Given the description of an element on the screen output the (x, y) to click on. 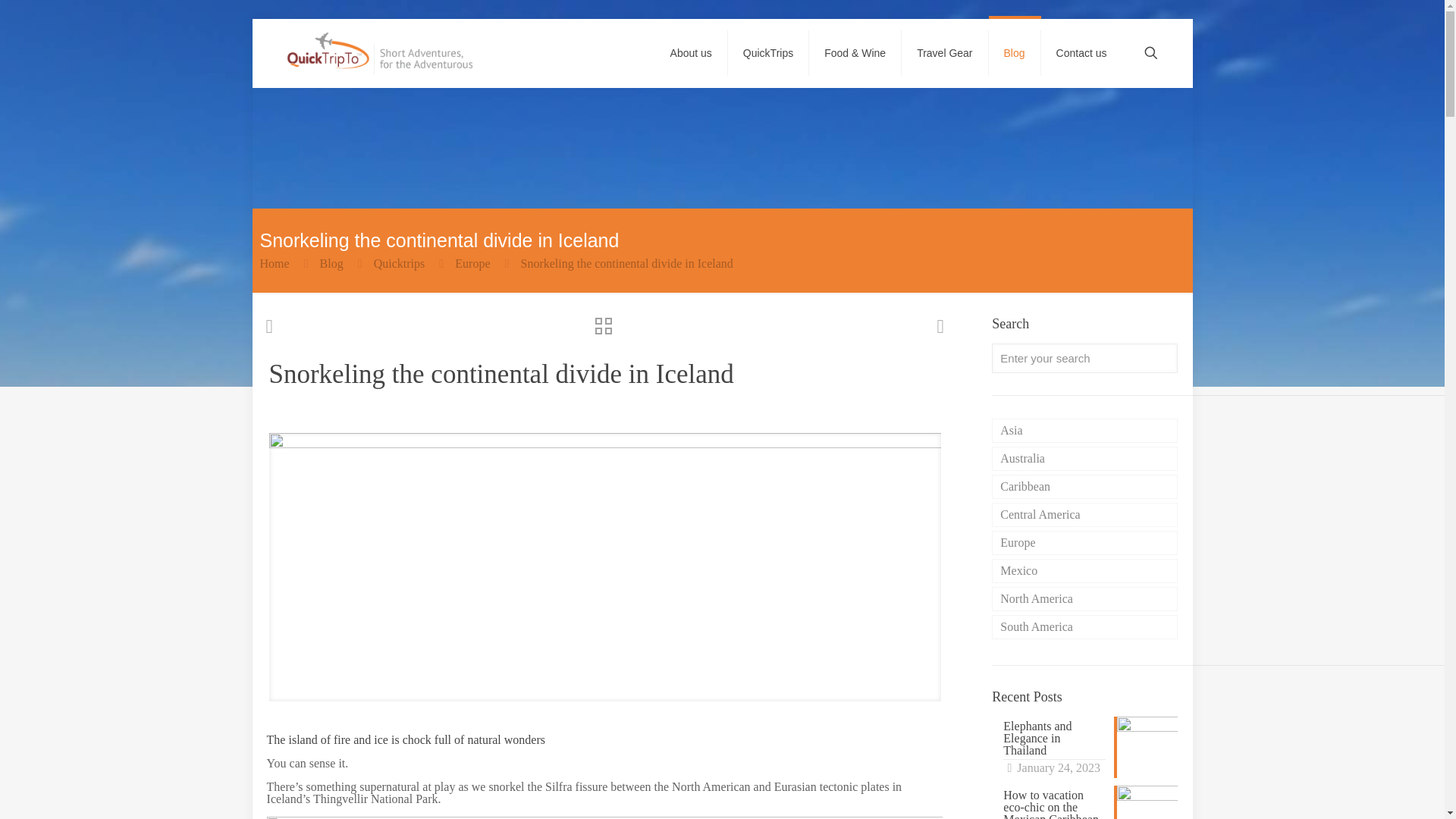
QuickTripTo (380, 52)
About us (691, 52)
QuickTrips (768, 52)
